Given the description of an element on the screen output the (x, y) to click on. 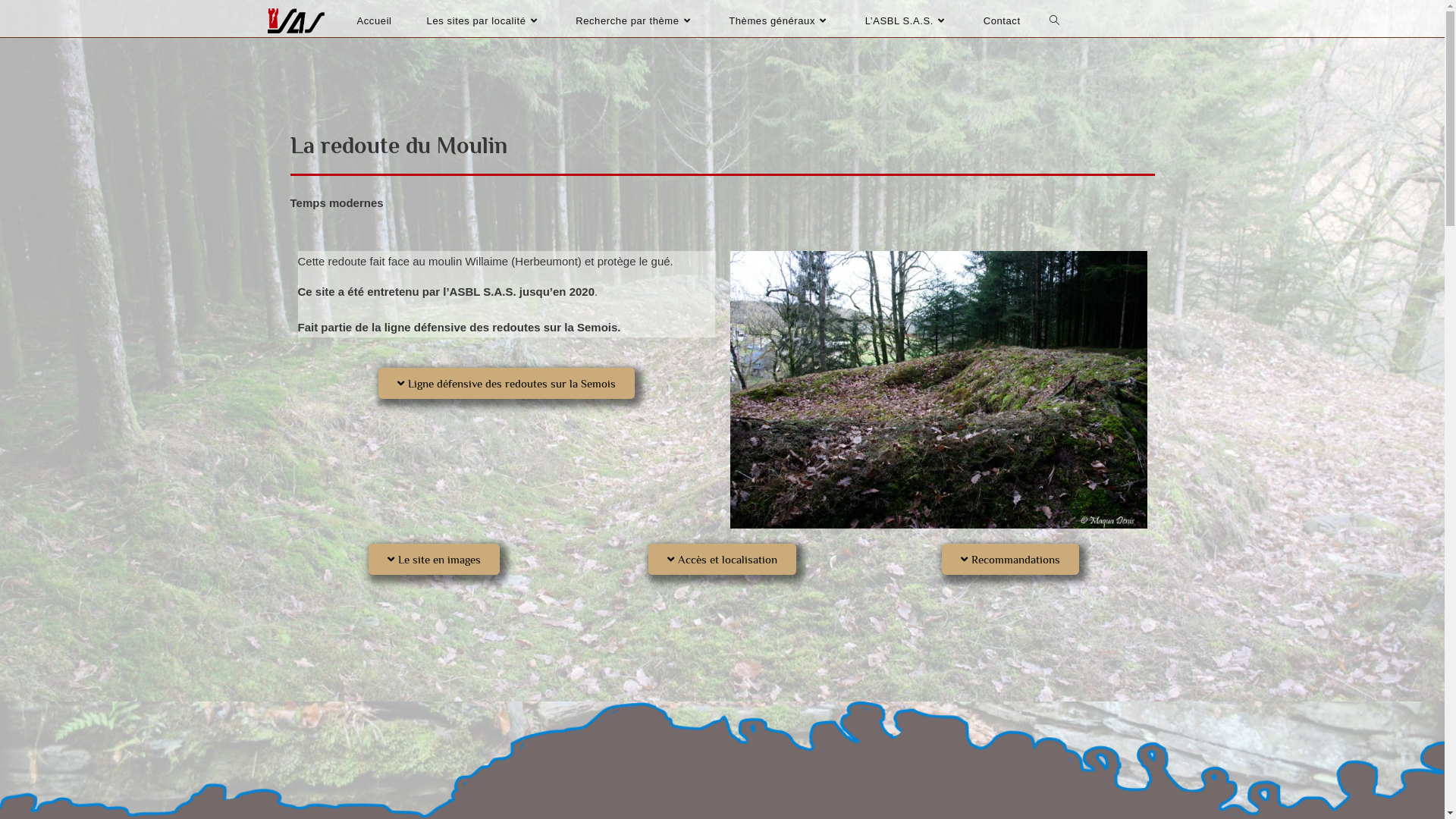
Recommandations Element type: text (1010, 558)
Contact Element type: text (1002, 20)
Le site en images Element type: text (433, 558)
Accueil Element type: text (374, 20)
